Given the description of an element on the screen output the (x, y) to click on. 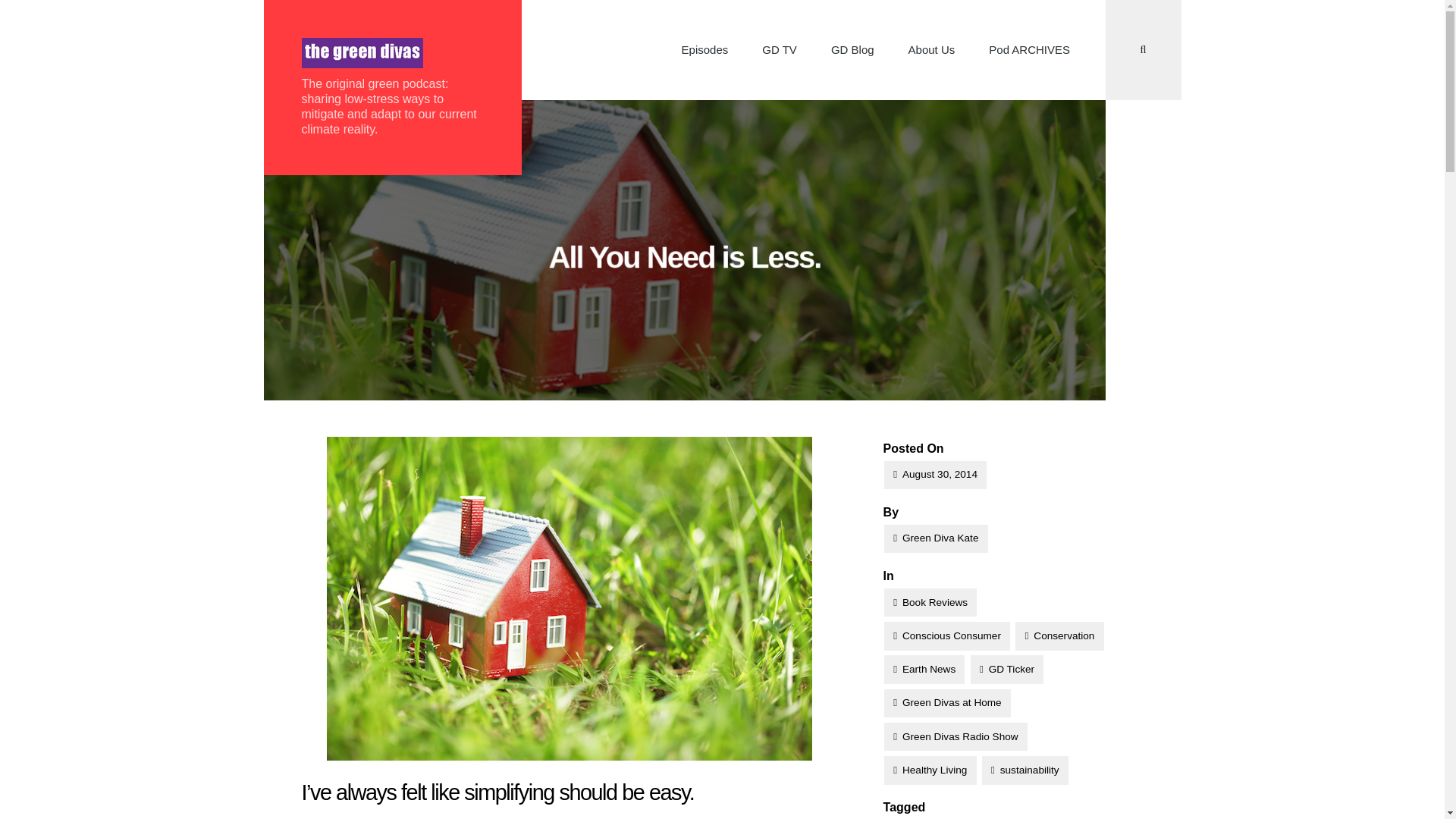
GD Blog (852, 50)
August 30, 2014 (935, 474)
GD TV (779, 50)
About Us (931, 50)
Book Reviews (929, 602)
Episodes (704, 50)
Green Diva Kate (935, 538)
Pod ARCHIVES (1029, 50)
